Given the description of an element on the screen output the (x, y) to click on. 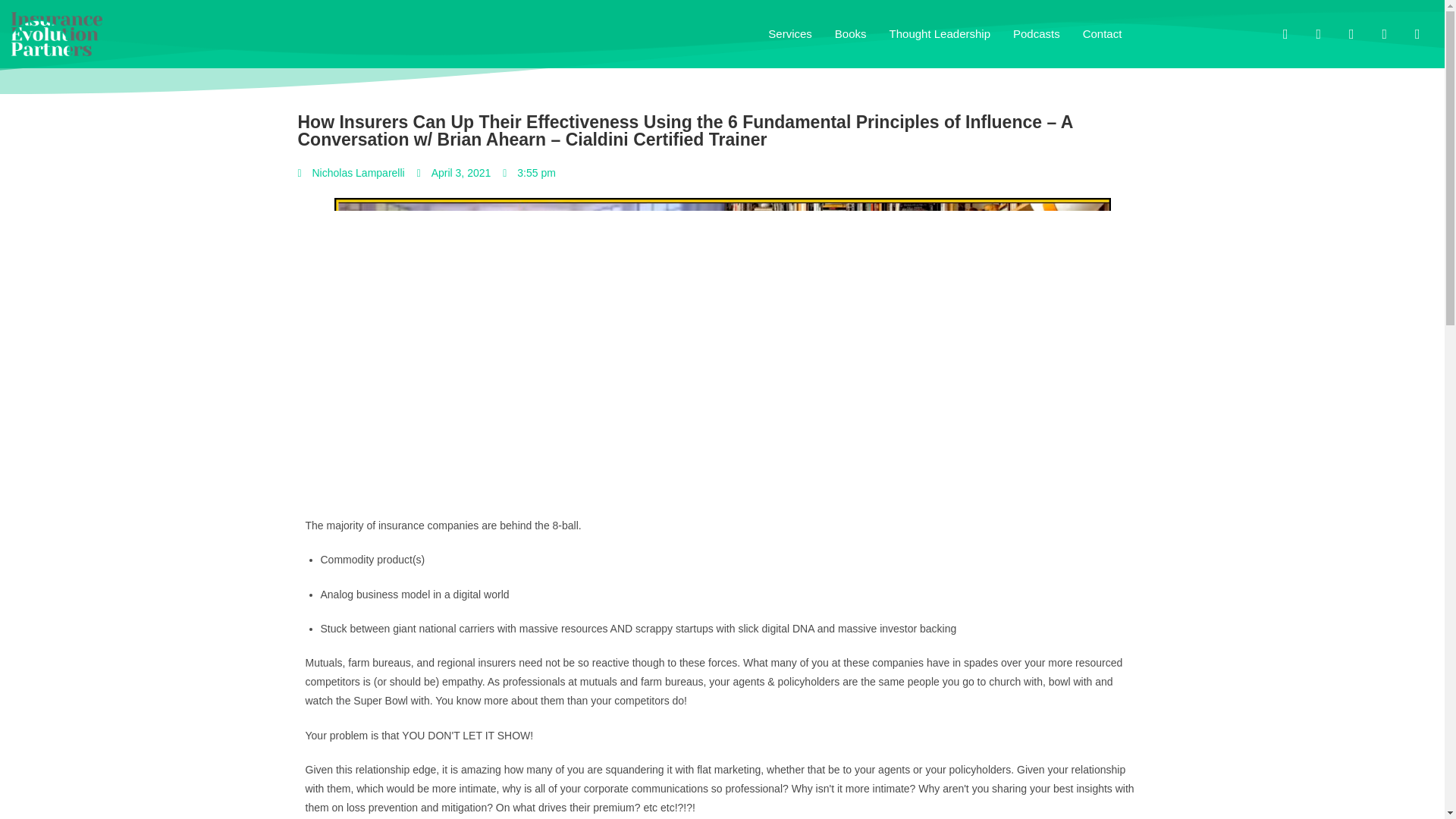
Books (850, 33)
Contact (1102, 33)
Services (790, 33)
Thought Leadership (939, 33)
Nicholas Lamparelli (350, 172)
Podcasts (1036, 33)
April 3, 2021 (454, 172)
